Given the description of an element on the screen output the (x, y) to click on. 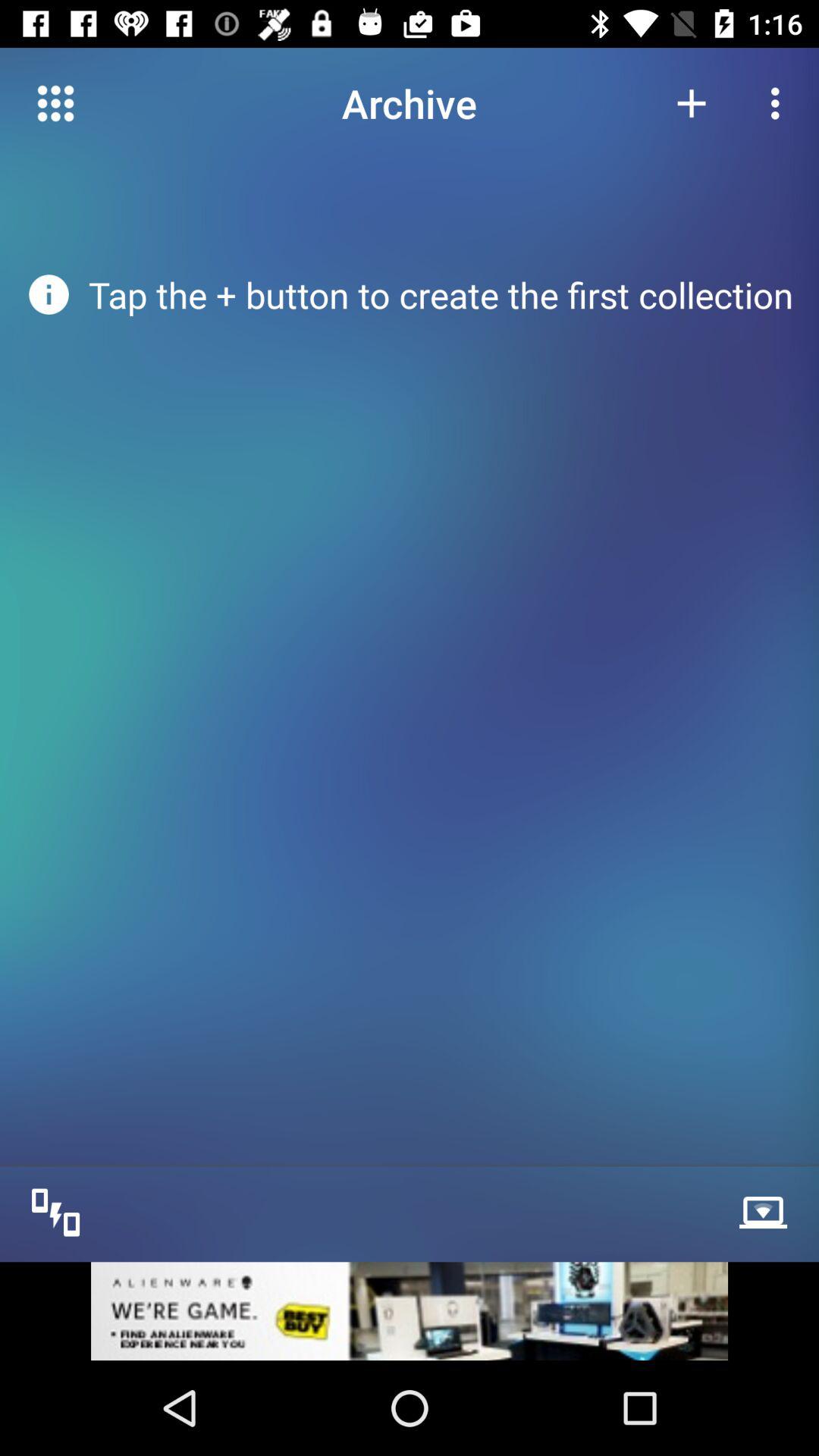
advertisement banner (409, 1310)
